Given the description of an element on the screen output the (x, y) to click on. 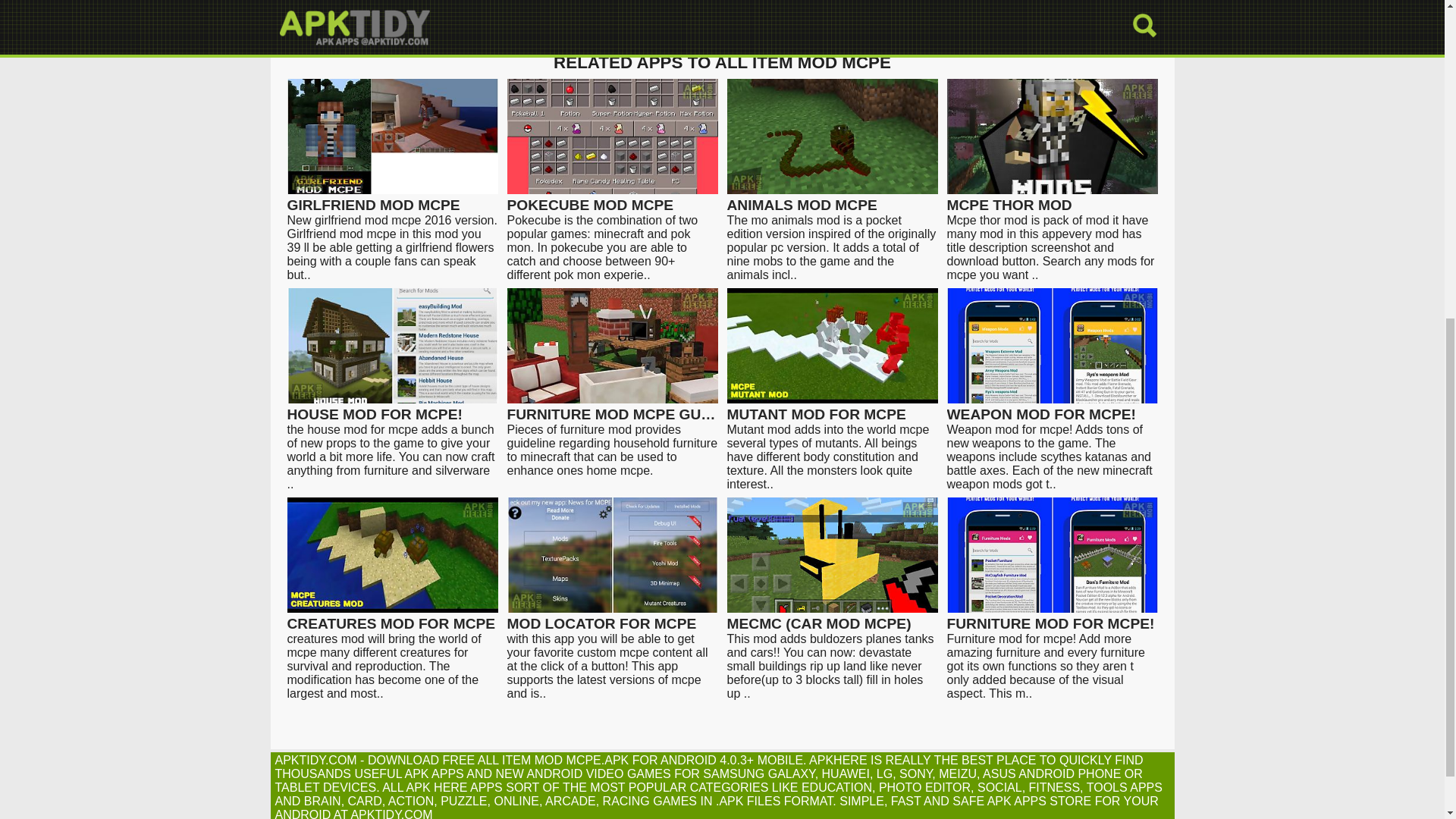
MOD LOCATOR FOR MCPE (611, 616)
FURNITURE MOD MCPE GUIDE (611, 408)
MCPE THOR MOD (1051, 198)
MUTANT MOD FOR MCPE (831, 408)
GIRLFRIEND MOD MCPE (391, 198)
WEAPON MOD FOR MCPE! (1051, 408)
HOUSE MOD FOR MCPE! (391, 408)
POKECUBE MOD MCPE (611, 198)
ANIMALS MOD MCPE (831, 198)
FURNITURE MOD FOR MCPE! (1051, 616)
